Given the description of an element on the screen output the (x, y) to click on. 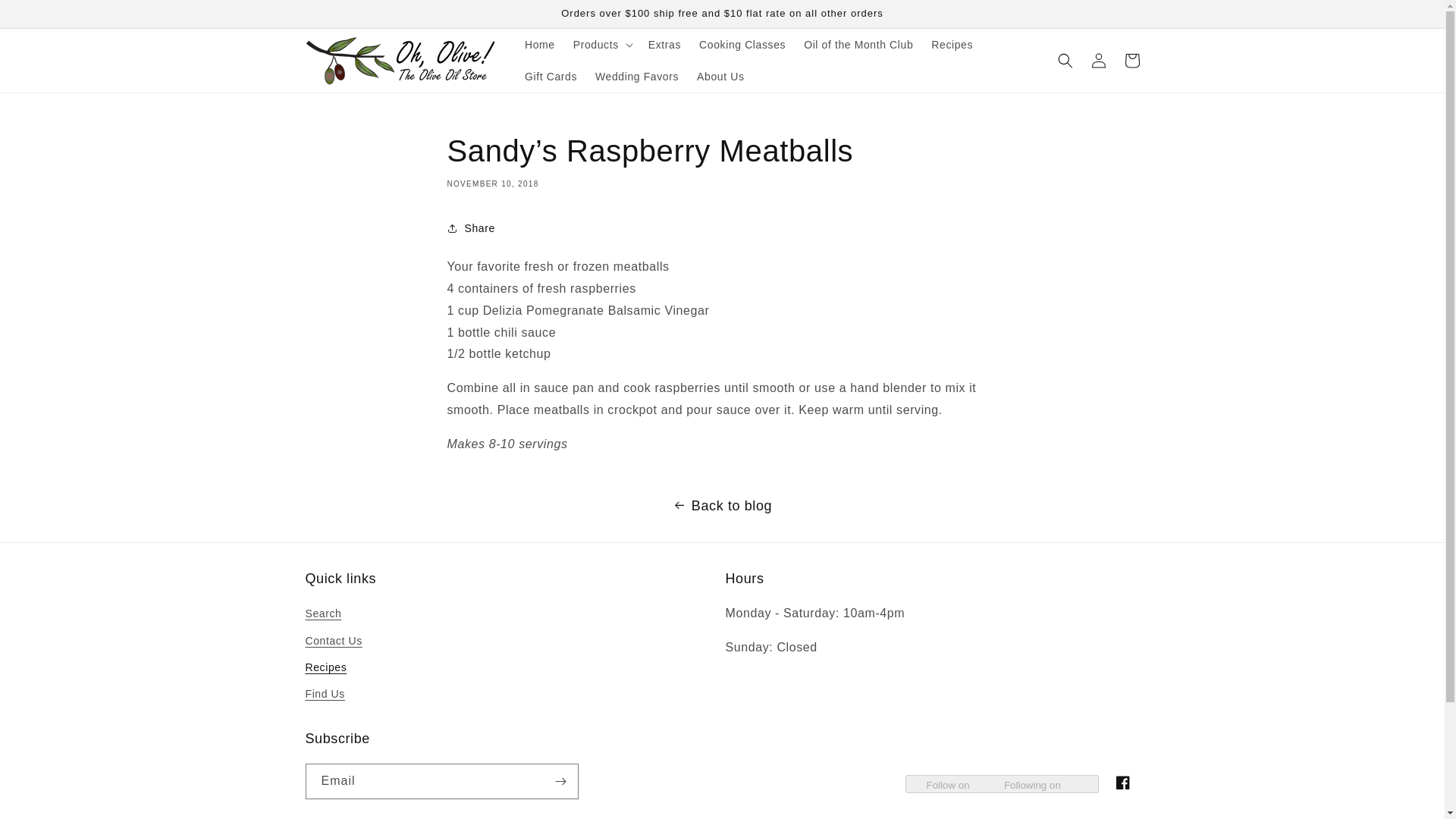
Skip to content (45, 17)
Home (539, 44)
